Given the description of an element on the screen output the (x, y) to click on. 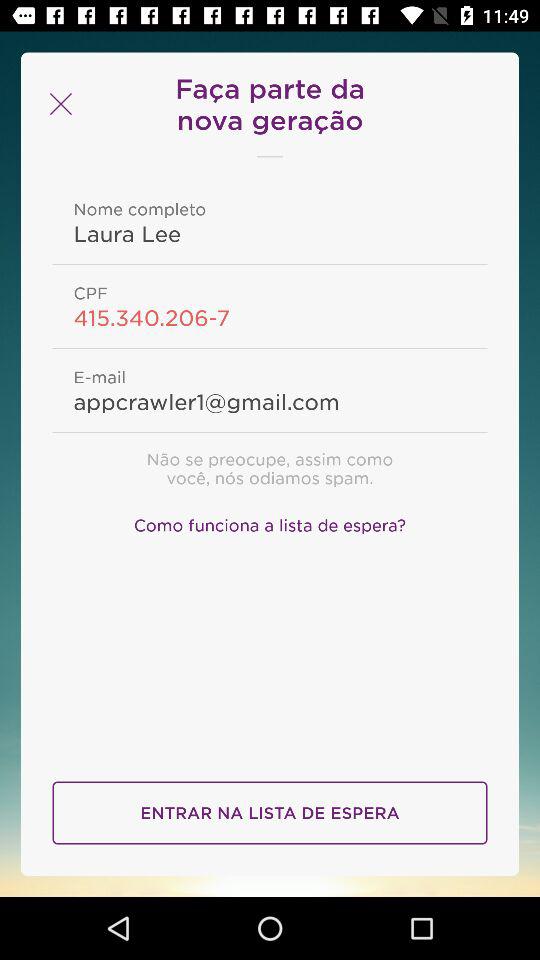
turn off appcrawler1@gmail.com icon (269, 401)
